Given the description of an element on the screen output the (x, y) to click on. 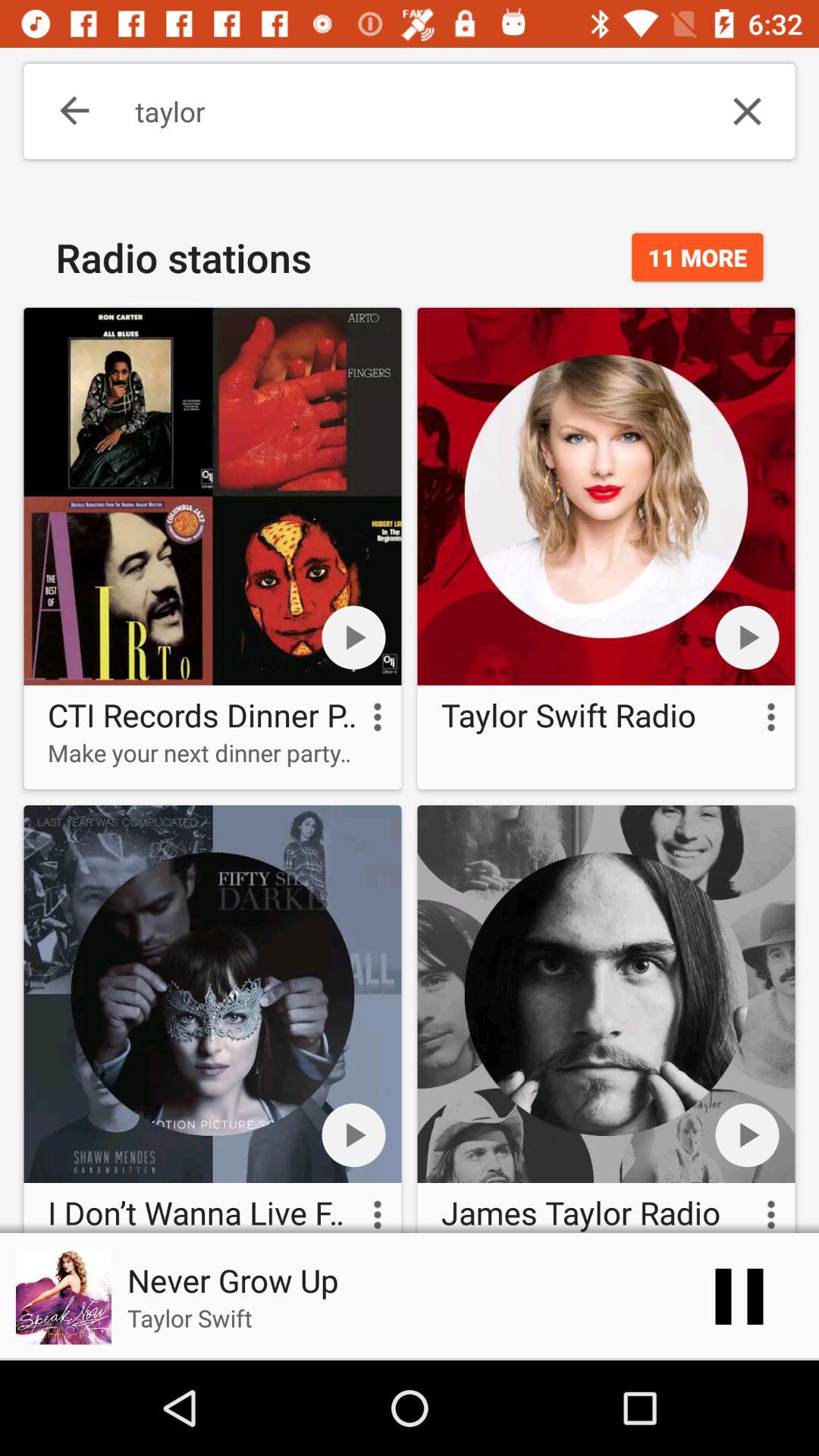
press the item to the right of the taylor item (747, 111)
